Given the description of an element on the screen output the (x, y) to click on. 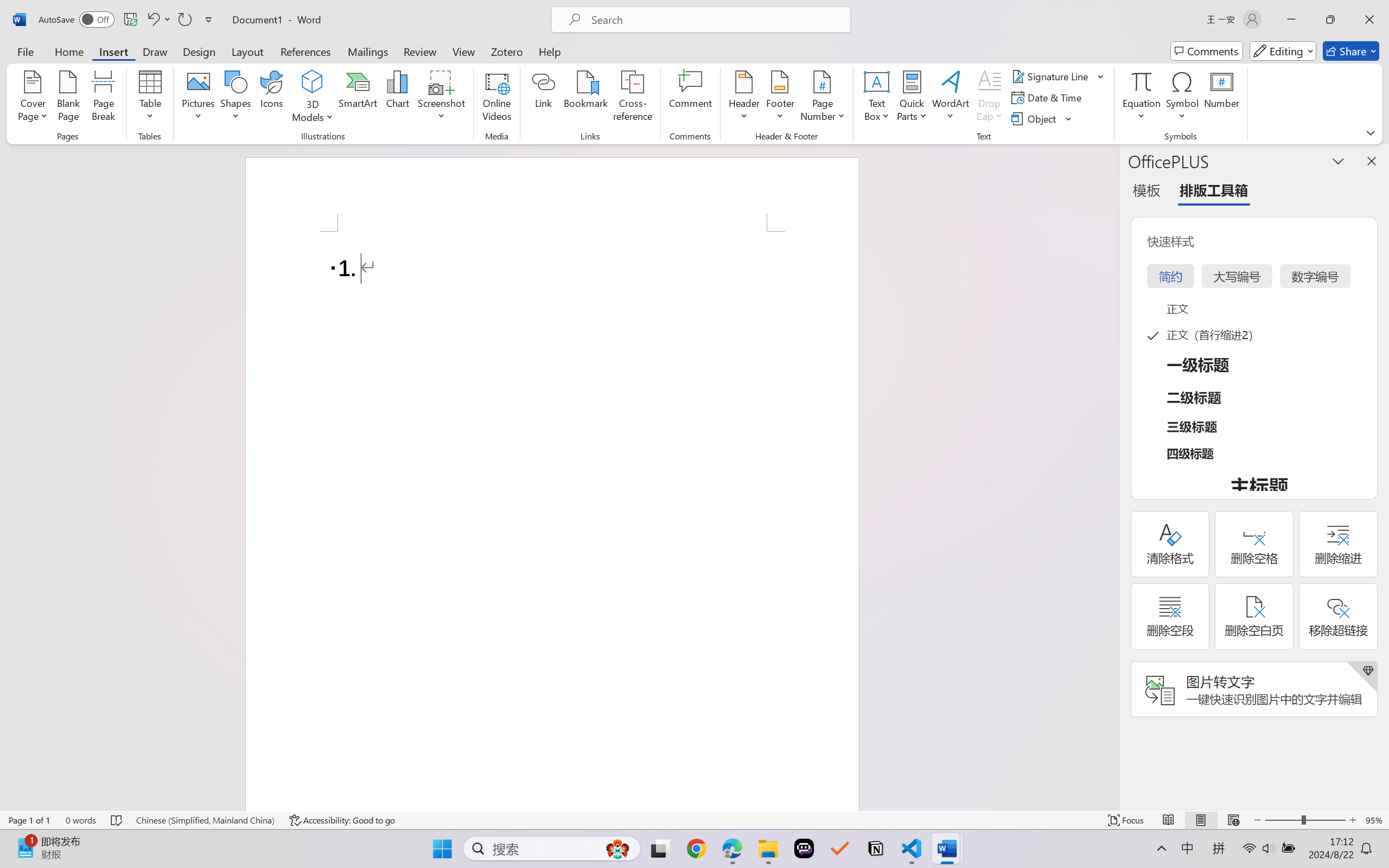
Cover Page (33, 97)
Drop Cap (989, 97)
Symbol (1181, 97)
Blank Page (67, 97)
Language Chinese (Simplified, Mainland China) (205, 819)
